Given the description of an element on the screen output the (x, y) to click on. 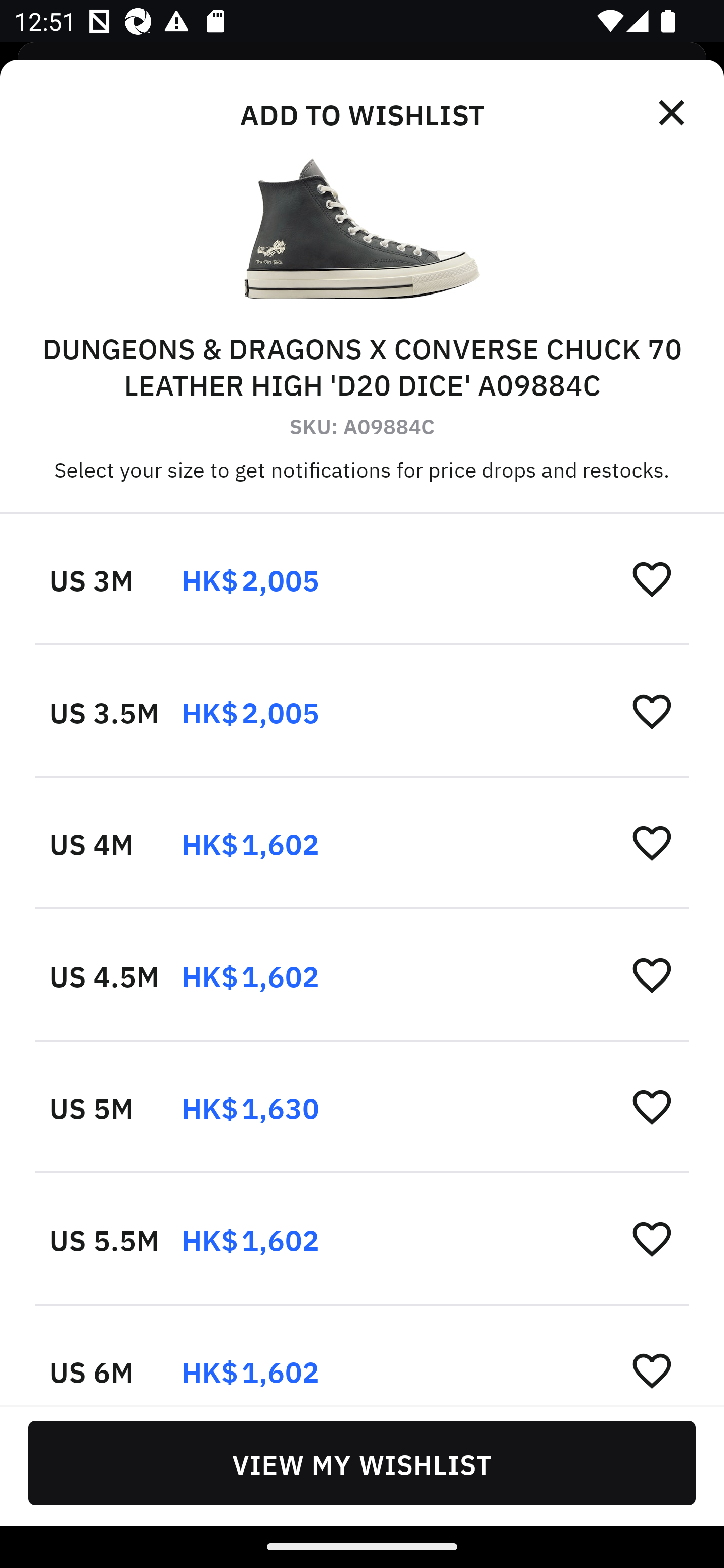
 (672, 112)
󰋕 (651, 578)
󰋕 (651, 710)
󰋕 (651, 842)
󰋕 (651, 974)
󰋕 (651, 1105)
󰋕 (651, 1237)
󰋕 (651, 1369)
VIEW MY WISHLIST (361, 1462)
